Given the description of an element on the screen output the (x, y) to click on. 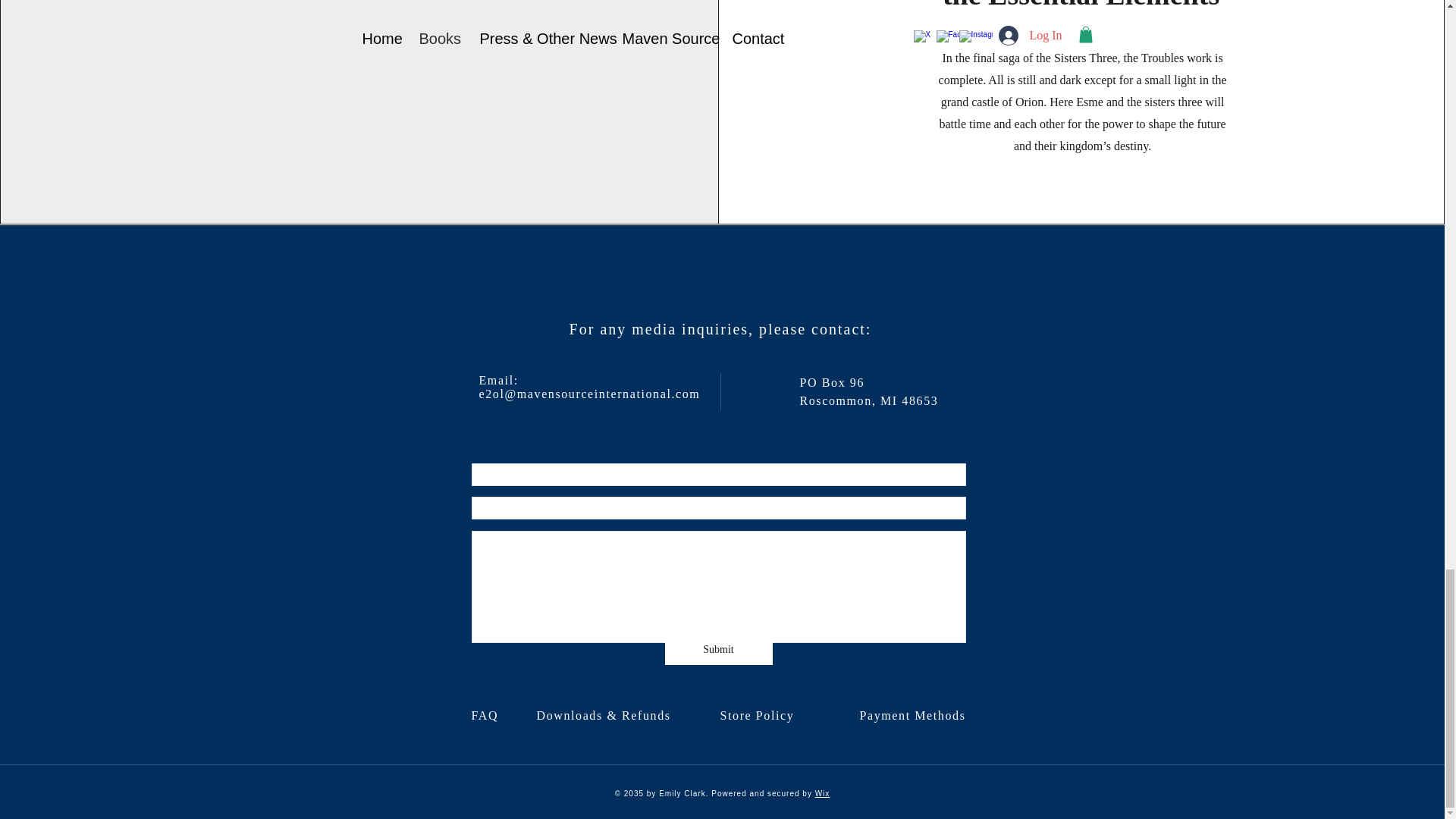
Submit (717, 649)
Wix (822, 793)
Payment Methods  (915, 715)
Store Policy    (764, 715)
FAQ  (486, 715)
